Given the description of an element on the screen output the (x, y) to click on. 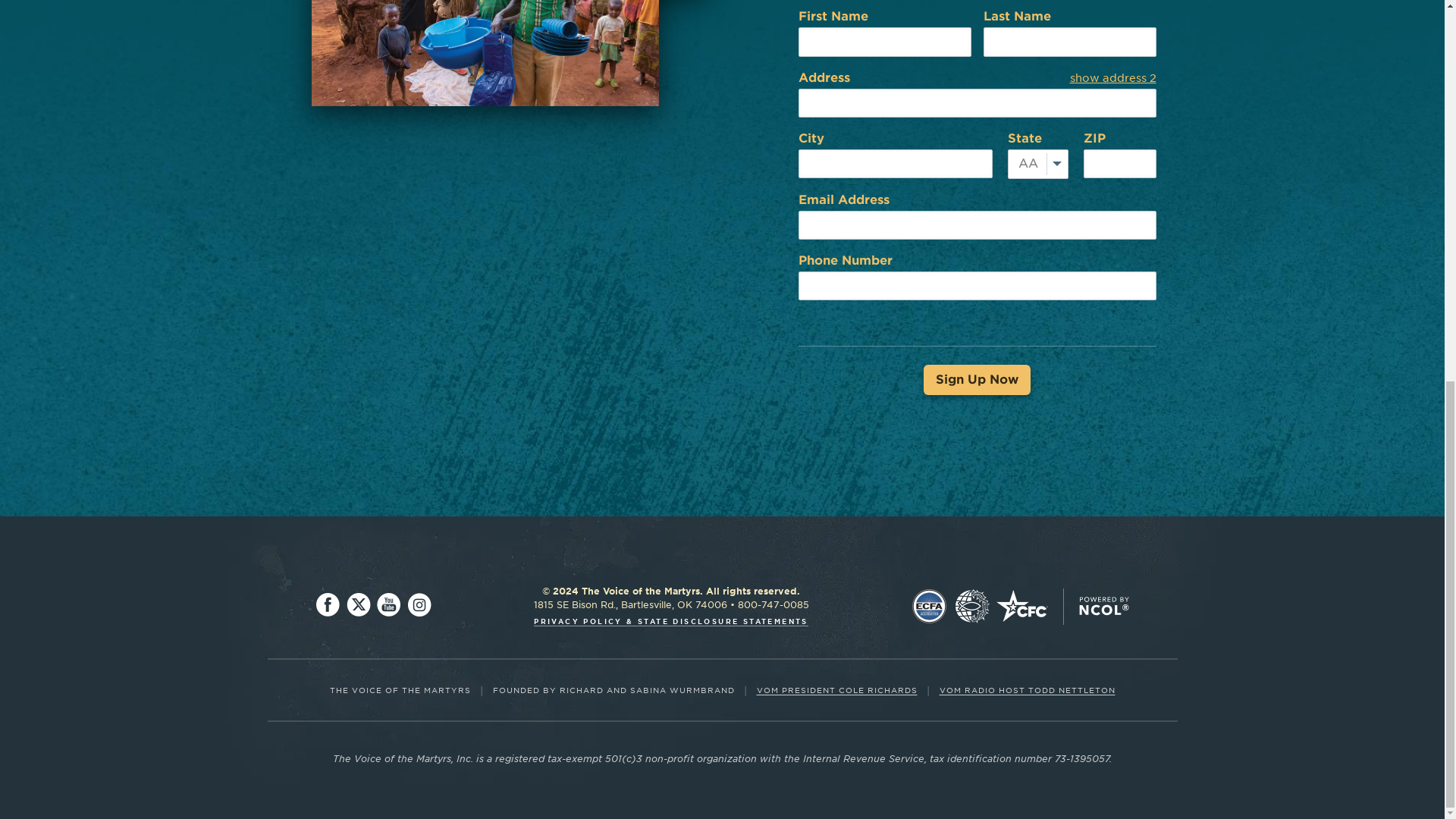
VOM PRESIDENT COLE RICHARDS (837, 689)
ECFA Member (929, 606)
Instagram (418, 604)
Facebook (327, 604)
Sign Up Now (976, 379)
show address 2 (1112, 78)
Twitter (357, 604)
Sign Up Now (976, 379)
Powered by NCOL (1103, 606)
International Christian Association (971, 606)
